Given the description of an element on the screen output the (x, y) to click on. 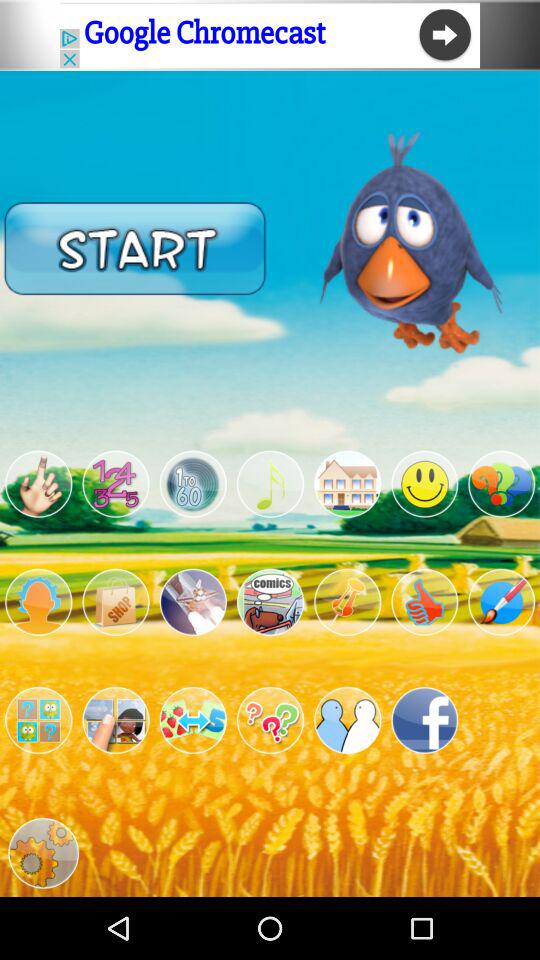
play the house song (347, 484)
